Given the description of an element on the screen output the (x, y) to click on. 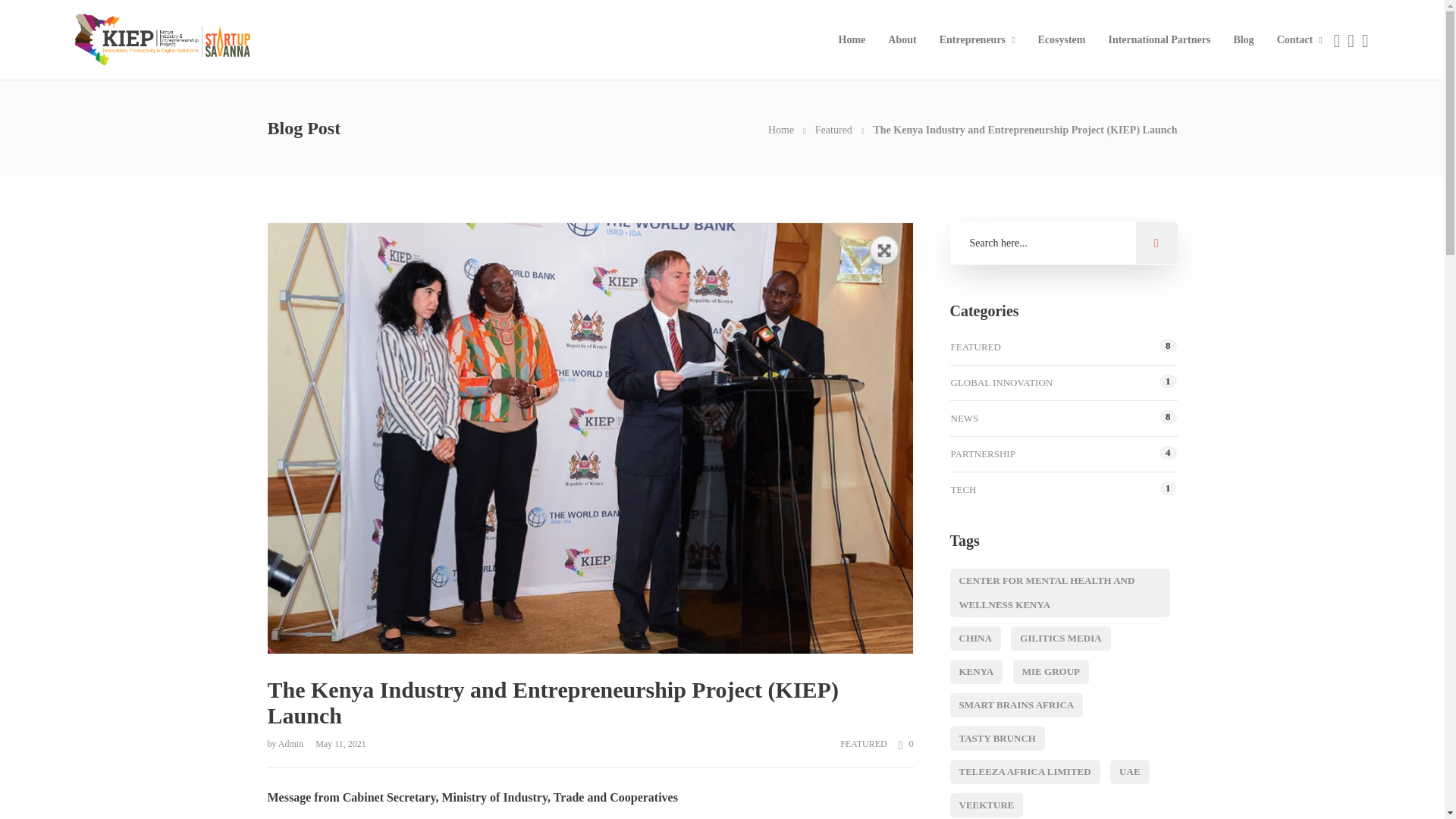
Featured (833, 129)
May 11, 2021 (335, 743)
Home (780, 129)
Entrepreneurs (976, 38)
International Partners (1158, 38)
0 (900, 743)
Search text (1062, 242)
Home (780, 129)
Admin (291, 743)
FEATURED (863, 743)
